Given the description of an element on the screen output the (x, y) to click on. 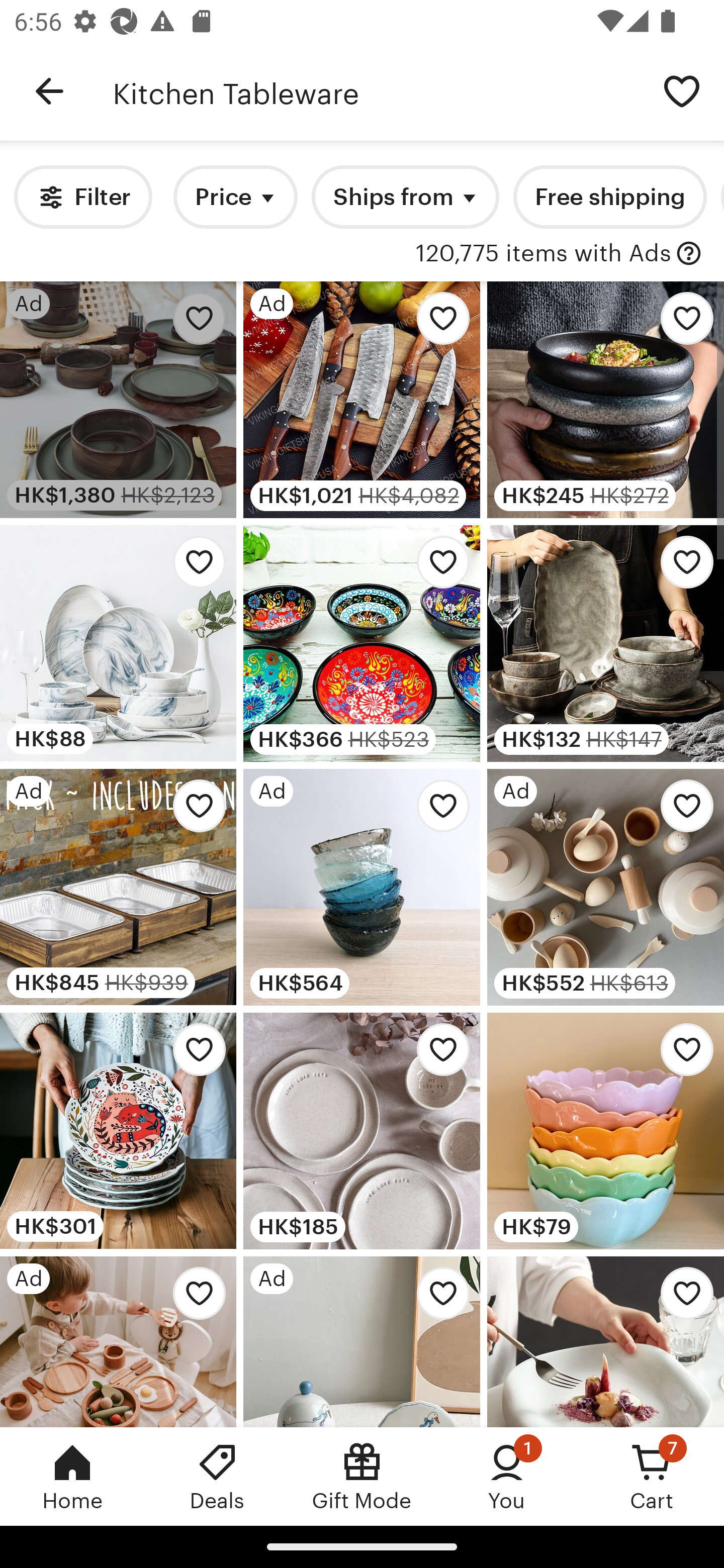
Navigate up (49, 91)
Save search (681, 90)
Kitchen Tableware (375, 91)
Filter (82, 197)
Price (235, 197)
Ships from (405, 197)
Free shipping (609, 197)
120,775 items with Ads (543, 253)
with Ads (688, 253)
Add Nordic tableware and dish set to favorites (194, 567)
Deals (216, 1475)
Gift Mode (361, 1475)
You, 1 new notification You (506, 1475)
Cart, 7 new notifications Cart (651, 1475)
